Given the description of an element on the screen output the (x, y) to click on. 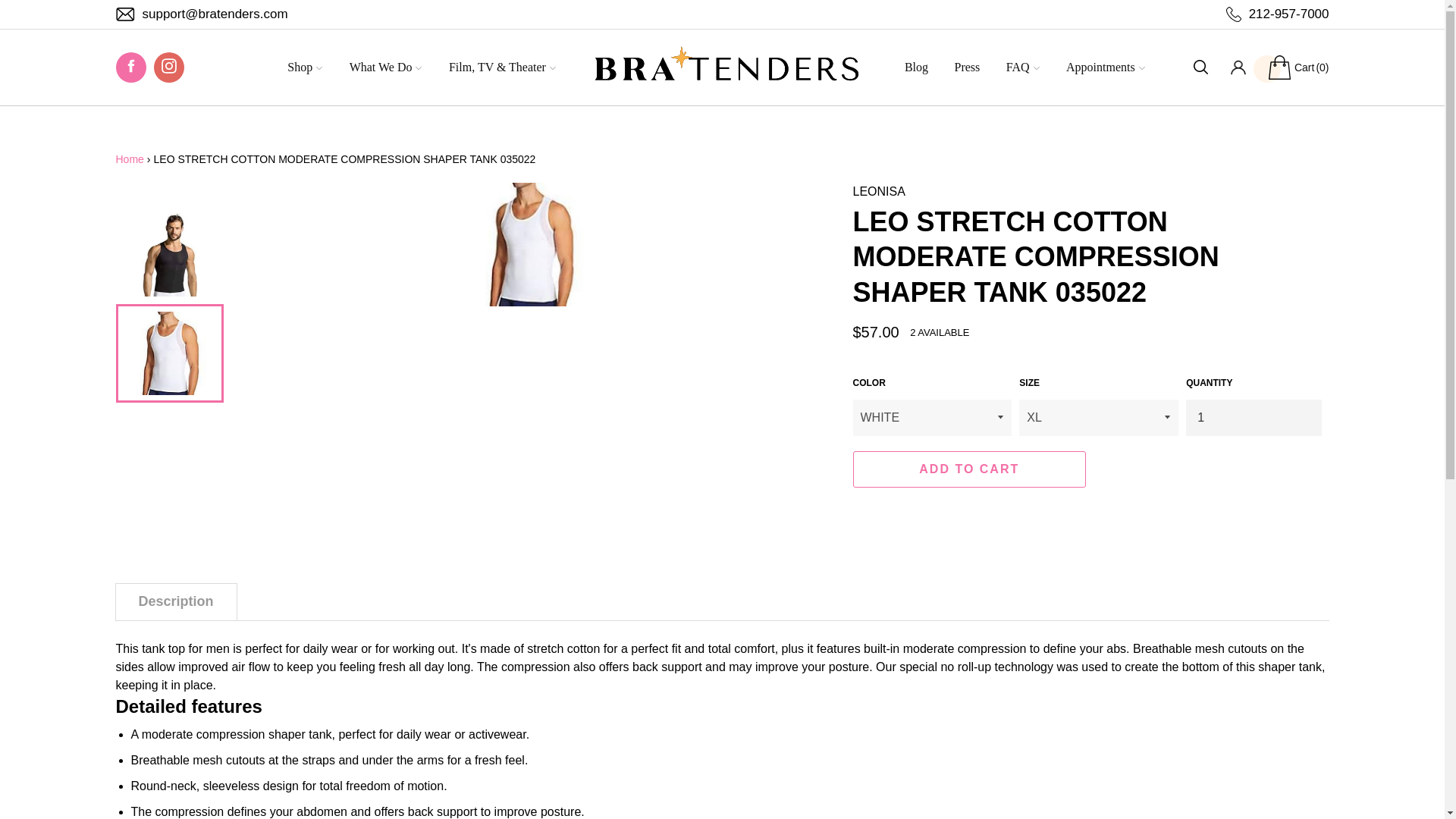
Home (128, 159)
Bra Tenders NYC on Facebook (130, 66)
Bra Tenders NYC on Instagram (167, 66)
1 (1253, 417)
